Given the description of an element on the screen output the (x, y) to click on. 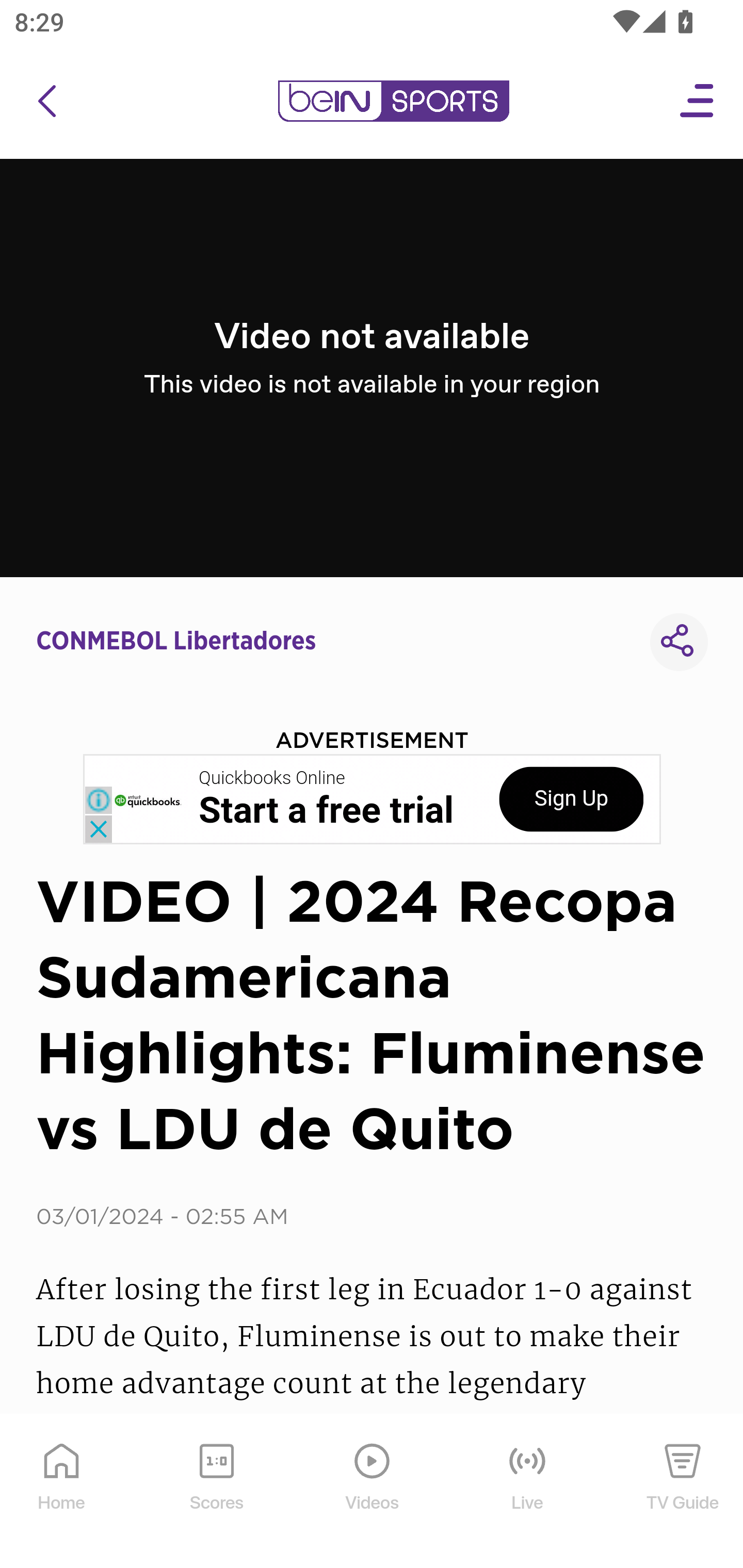
en-us?platform=mobile_android bein logo (392, 101)
icon back (46, 101)
Open Menu Icon (697, 101)
Quickbooks Online (272, 778)
Sign Up (571, 799)
Start a free trial (326, 810)
Home Home Icon Home (61, 1491)
Scores Scores Icon Scores (216, 1491)
Videos Videos Icon Videos (372, 1491)
TV Guide TV Guide Icon TV Guide (682, 1491)
